Given the description of an element on the screen output the (x, y) to click on. 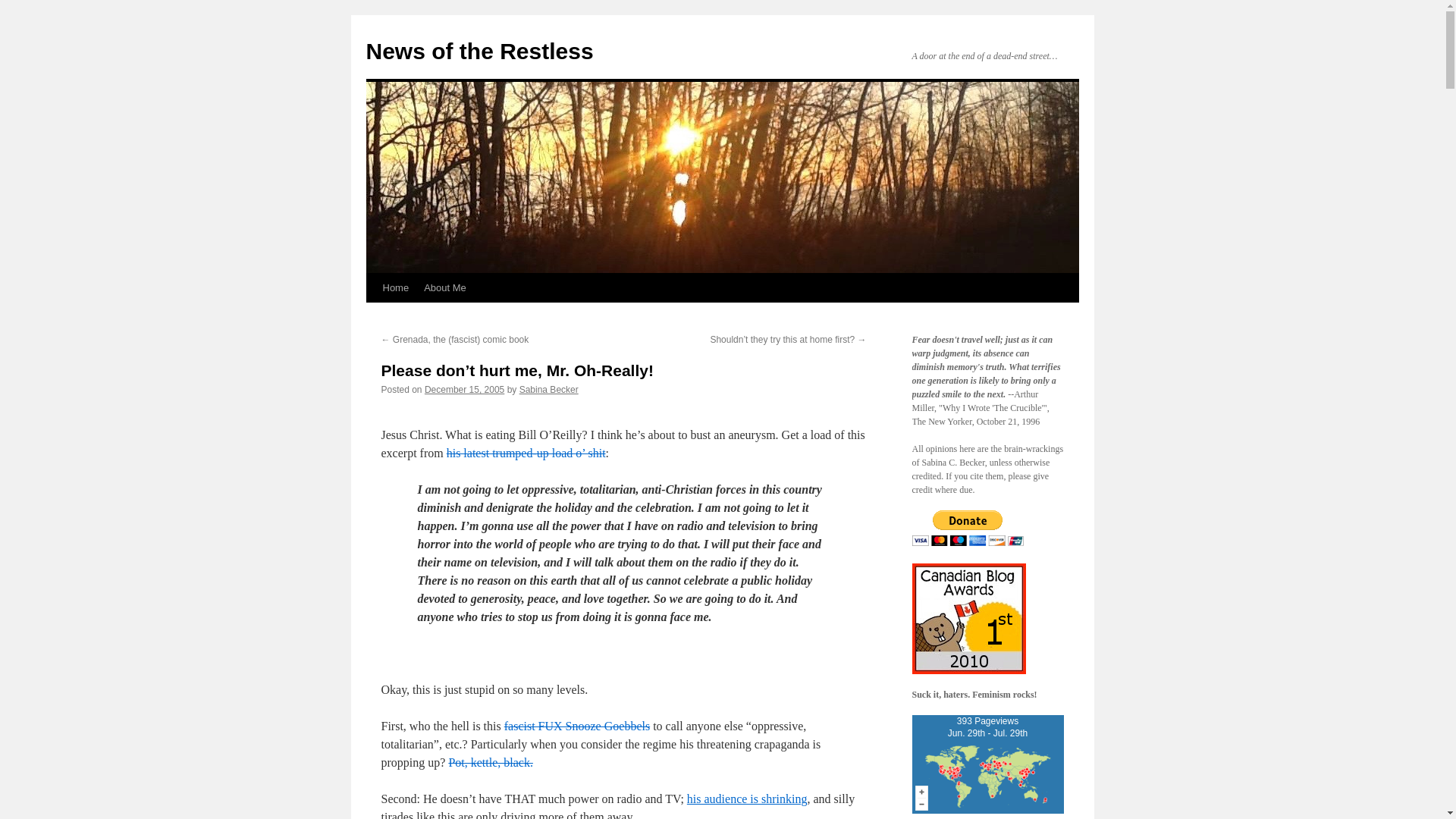
his audience is shrinking (747, 798)
View all posts by Sabina Becker (548, 389)
News of the Restless (478, 50)
Sabina Becker (548, 389)
Pot, kettle, black. (490, 762)
December 15, 2005 (464, 389)
Home (395, 287)
About Me (445, 287)
fascist FUX Snooze Goebbels (576, 725)
10:42 PM (986, 766)
